Given the description of an element on the screen output the (x, y) to click on. 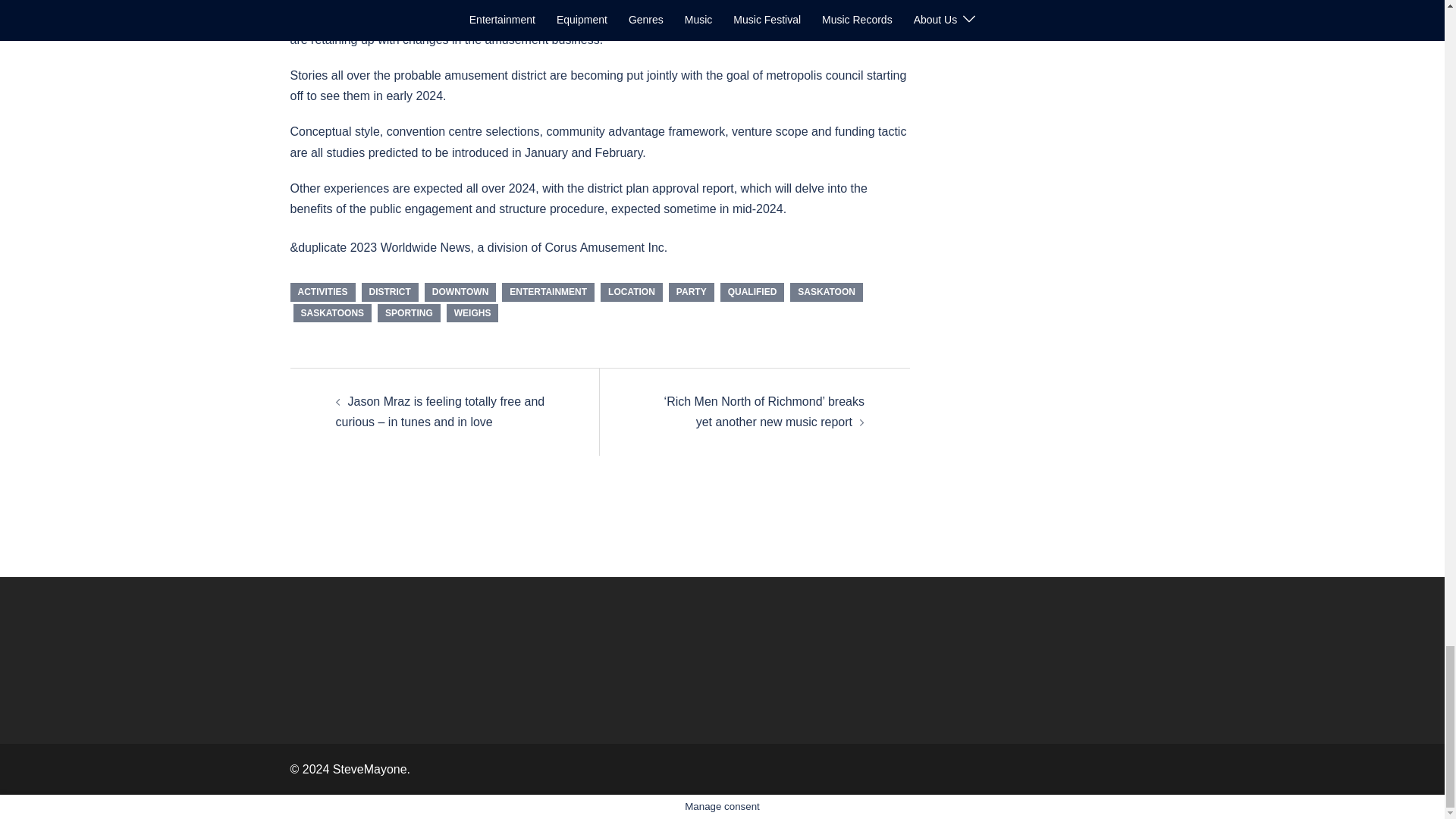
DOWNTOWN (460, 291)
ENTERTAINMENT (548, 291)
DISTRICT (390, 291)
ACTIVITIES (322, 291)
